Given the description of an element on the screen output the (x, y) to click on. 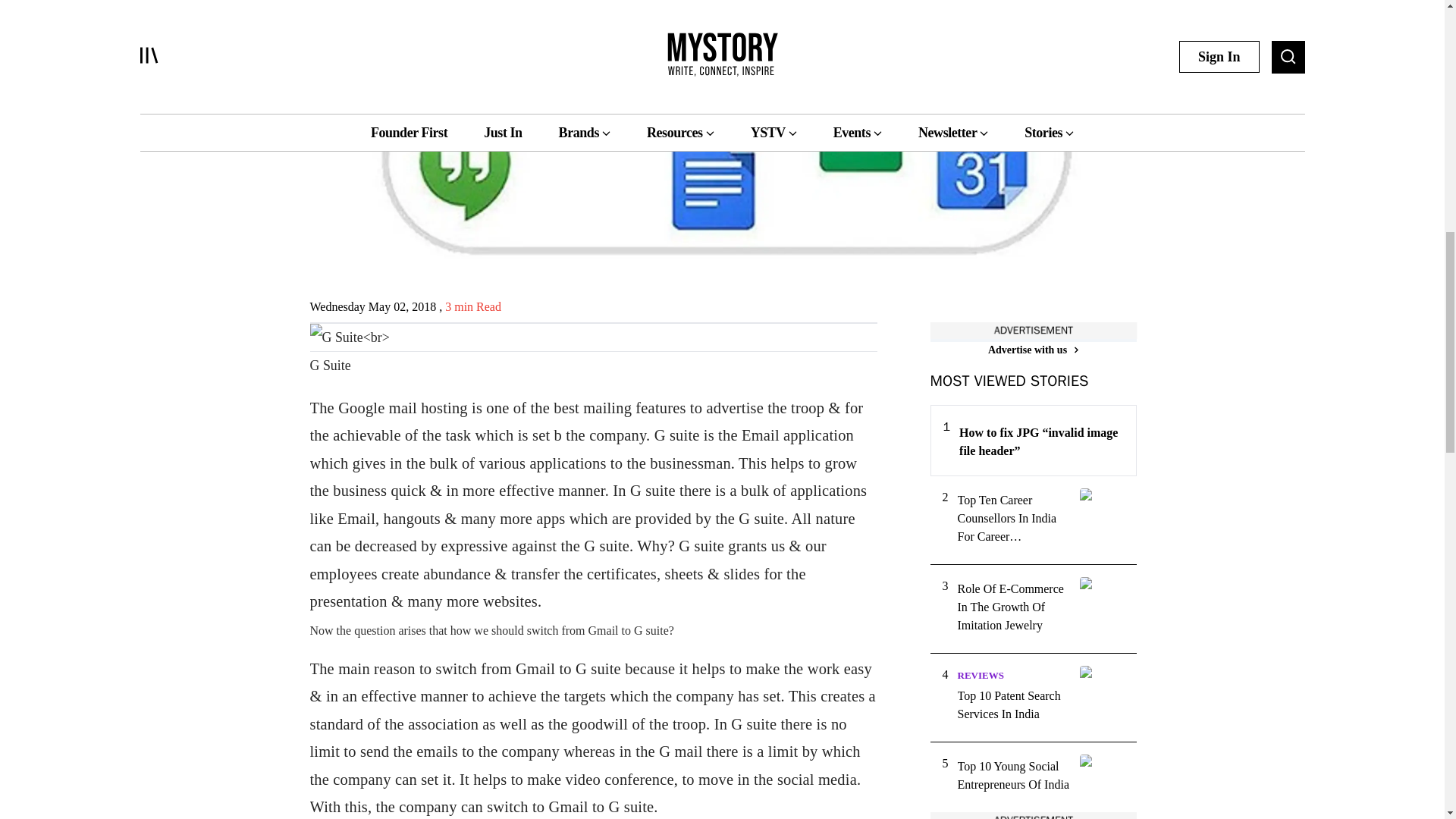
Top 10 Patent Search Services In India (1013, 705)
Advertise with us (1032, 349)
Role Of E-Commerce In The Growth Of Imitation Jewelry (1013, 606)
Top 10 Young Social Entrepreneurs Of India (1013, 775)
REVIEWS (979, 674)
Top Ten Career Counsellors In India For Career Counselling (1013, 518)
